Given the description of an element on the screen output the (x, y) to click on. 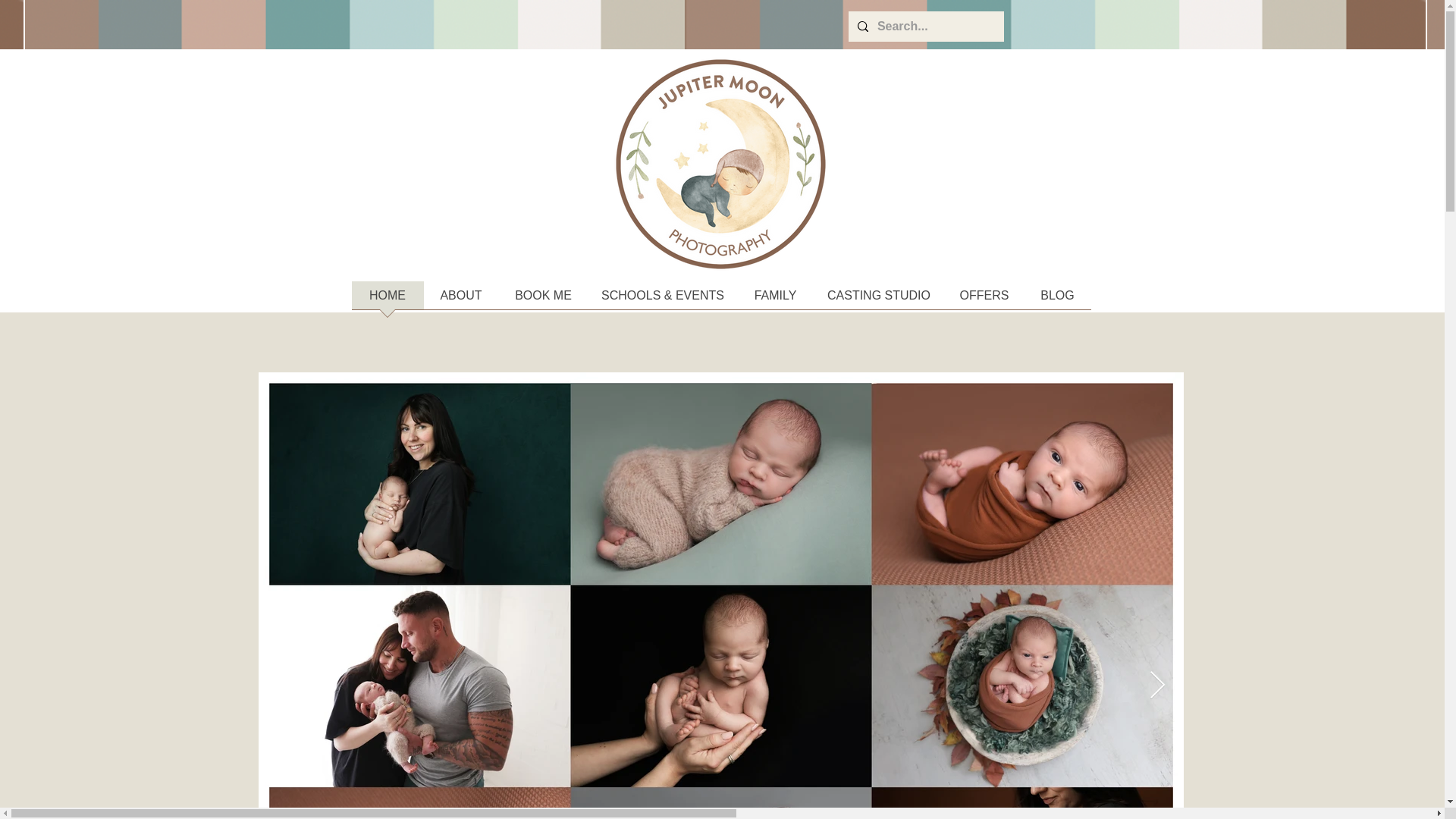
CASTING STUDIO (877, 300)
Jupiter Moon Photography Brighouse Logo (720, 163)
ABOUT (460, 300)
OFFERS (984, 300)
FAMILY (774, 300)
HOME (387, 300)
Branding colours of Jupiter Moon Photography (1055, 24)
BOOK ME (543, 300)
Branding colours of Jupiter Moon Photography (393, 24)
BLOG (1056, 300)
